Given the description of an element on the screen output the (x, y) to click on. 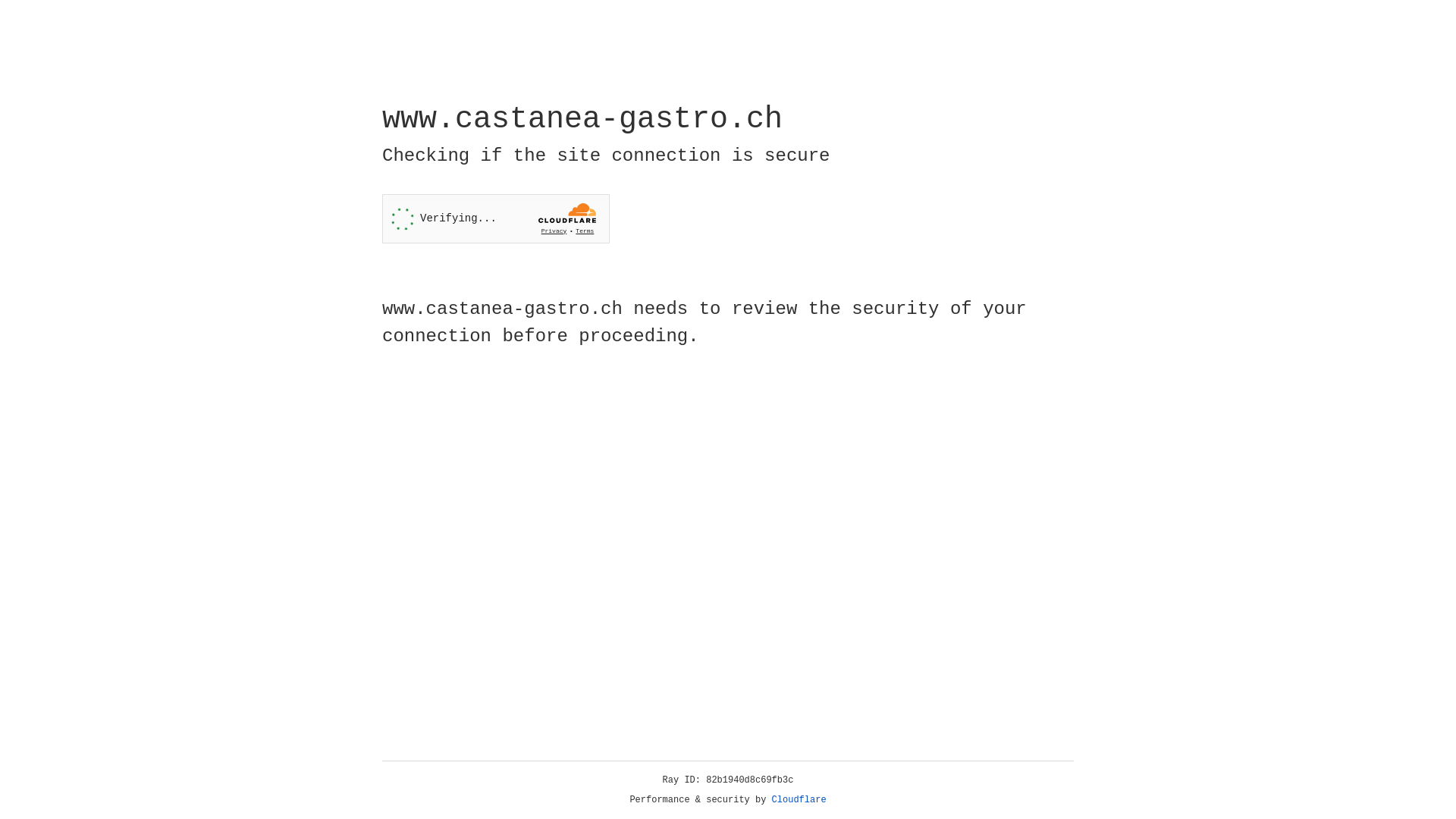
Widget containing a Cloudflare security challenge Element type: hover (495, 218)
Cloudflare Element type: text (798, 799)
